Given the description of an element on the screen output the (x, y) to click on. 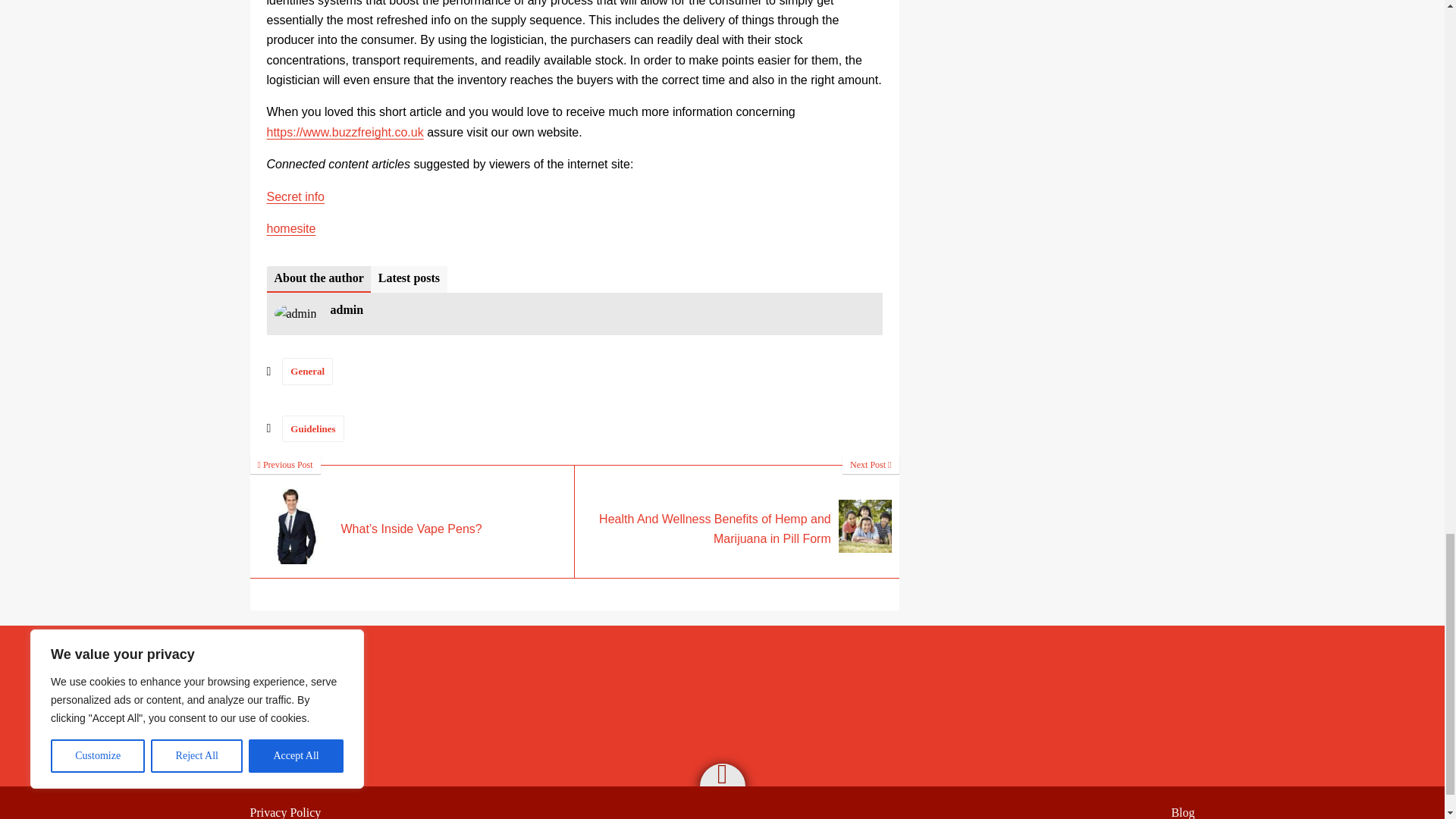
Secret info (295, 196)
homesite (290, 228)
Guidelines (312, 428)
General (307, 370)
